Given the description of an element on the screen output the (x, y) to click on. 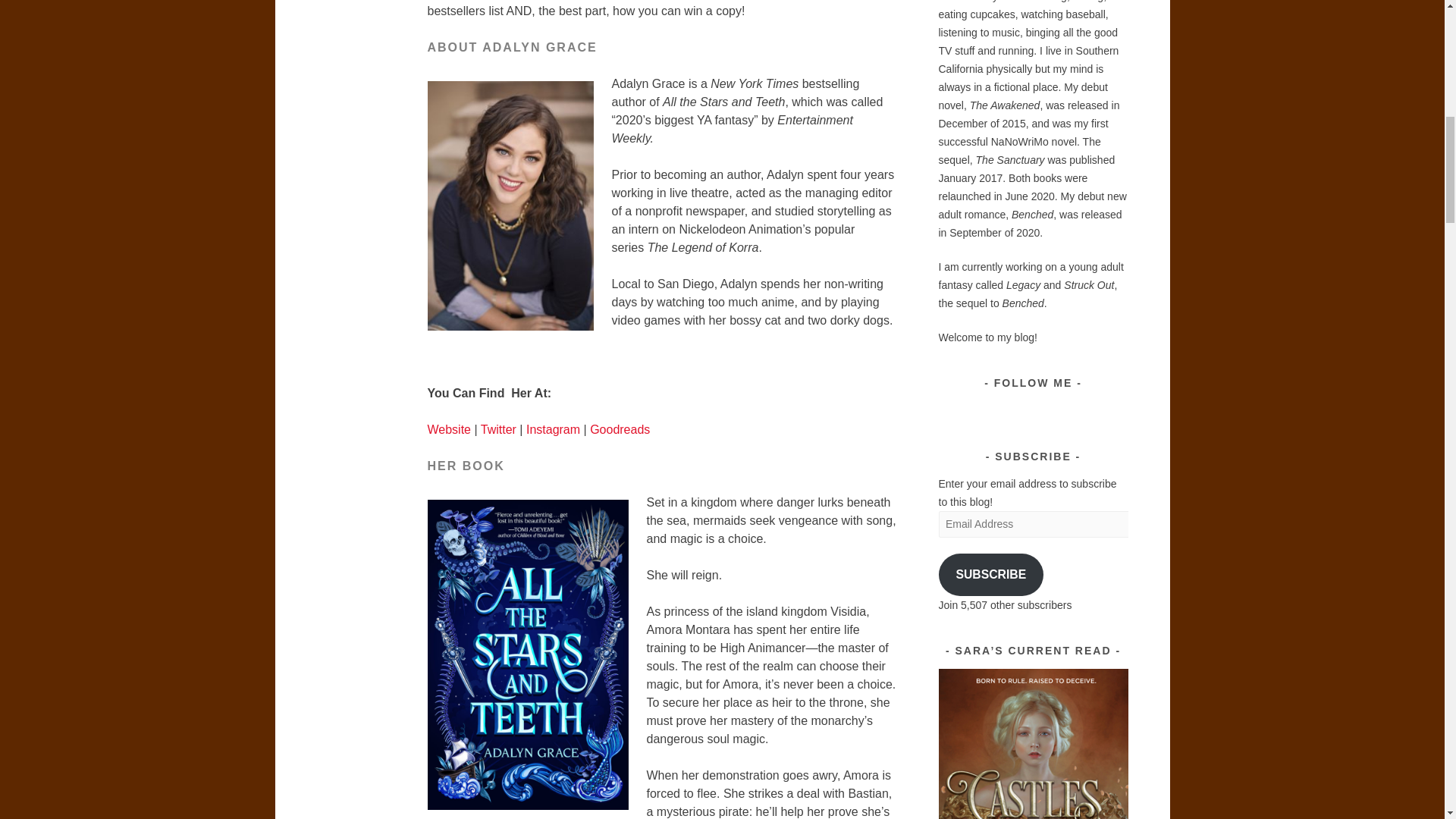
Goodreads (619, 429)
Instagram (552, 429)
Website (449, 429)
Twitter (498, 429)
